Given the description of an element on the screen output the (x, y) to click on. 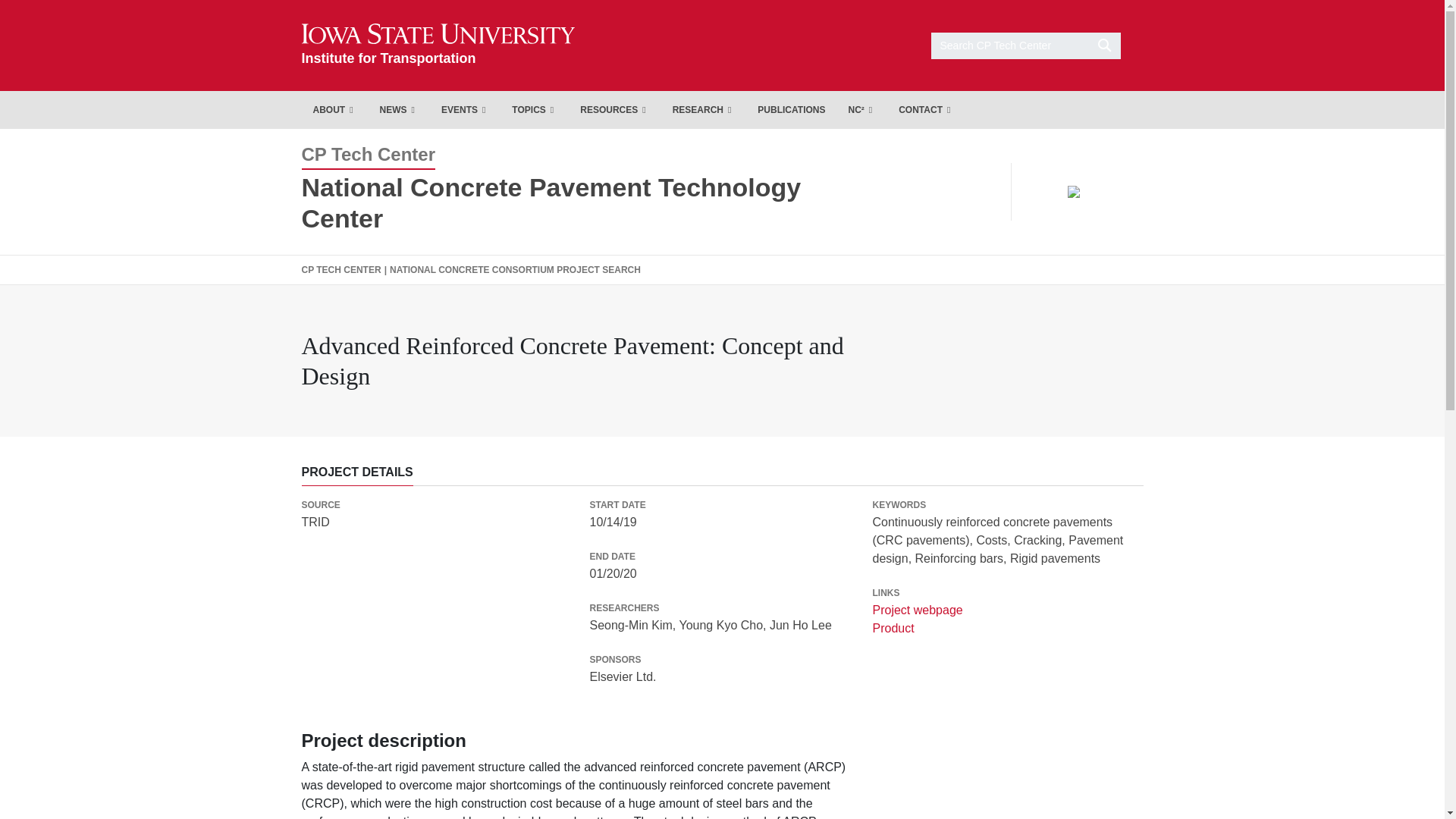
Search (438, 44)
ABOUT (534, 109)
Home (334, 109)
NEWS (438, 44)
Submit (398, 109)
Search (615, 109)
